Given the description of an element on the screen output the (x, y) to click on. 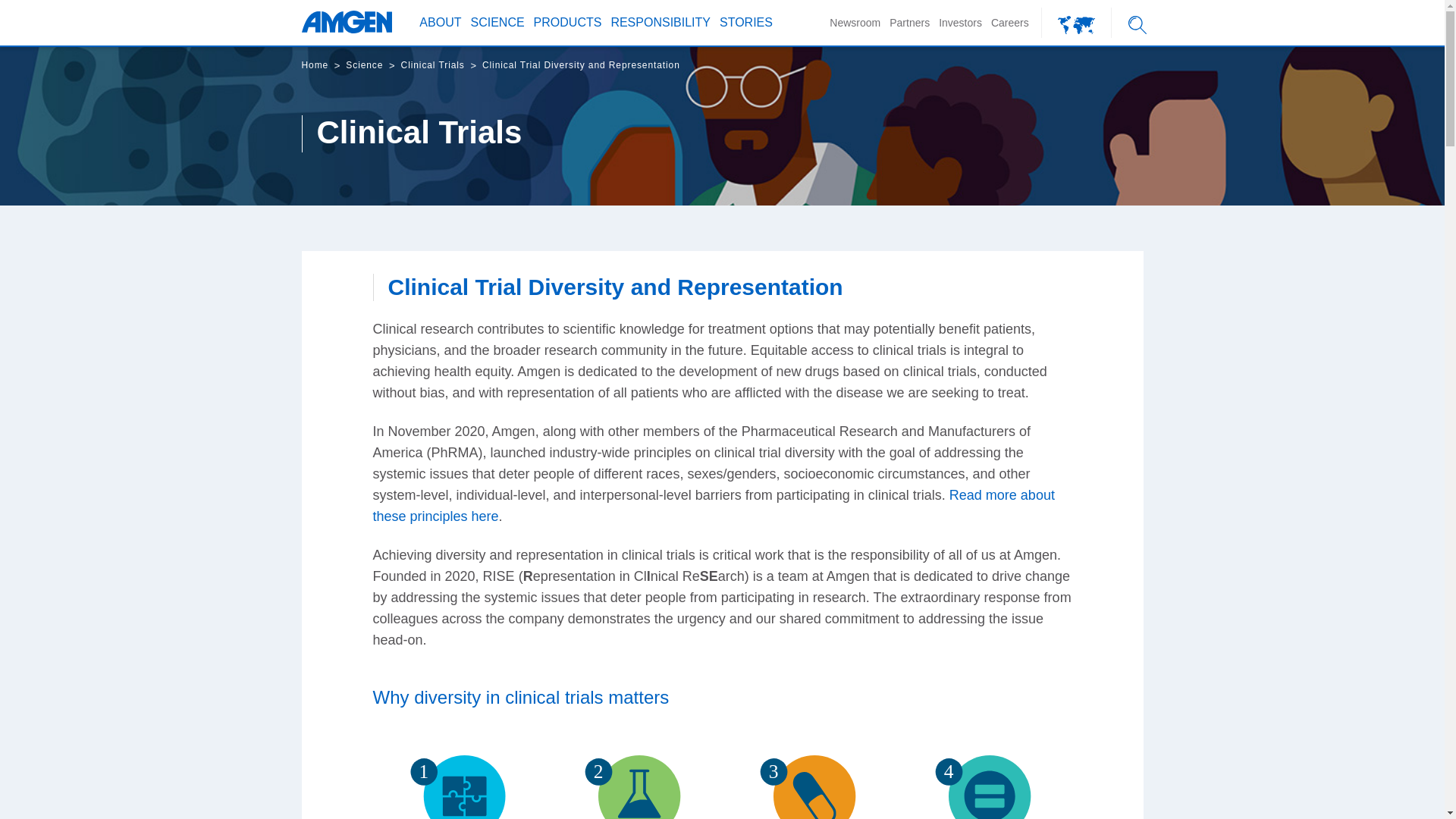
Science (364, 65)
Home (315, 65)
Clinical Trials (432, 65)
Clinical Trial Diversity and Representation (580, 65)
